Given the description of an element on the screen output the (x, y) to click on. 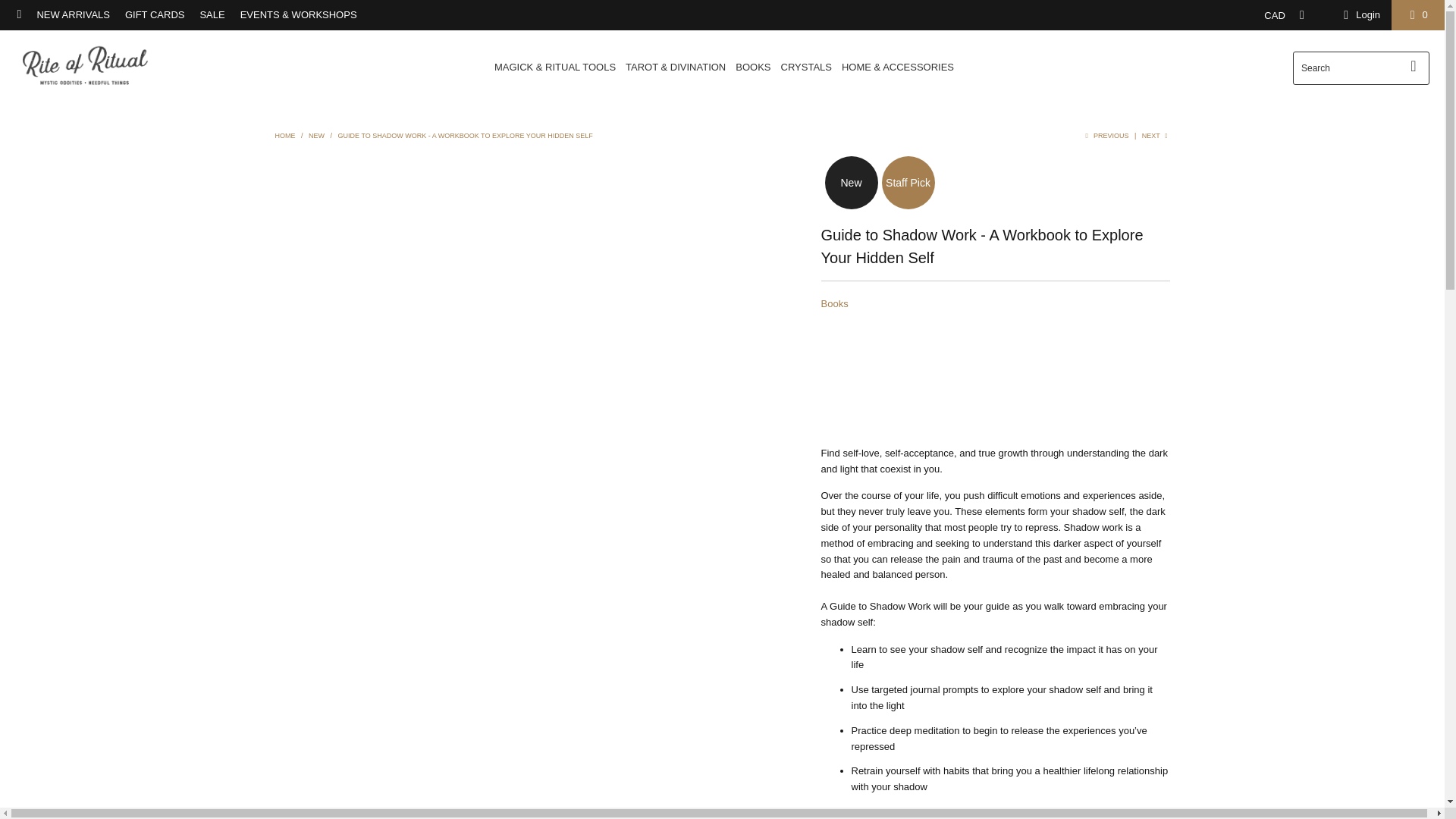
Rite of Ritual (285, 135)
NEW (316, 135)
My Account  (1359, 15)
Previous (1104, 135)
Rite of Ritual (84, 67)
Next (1155, 135)
Rite of Ritual on Instagram (17, 14)
